Given the description of an element on the screen output the (x, y) to click on. 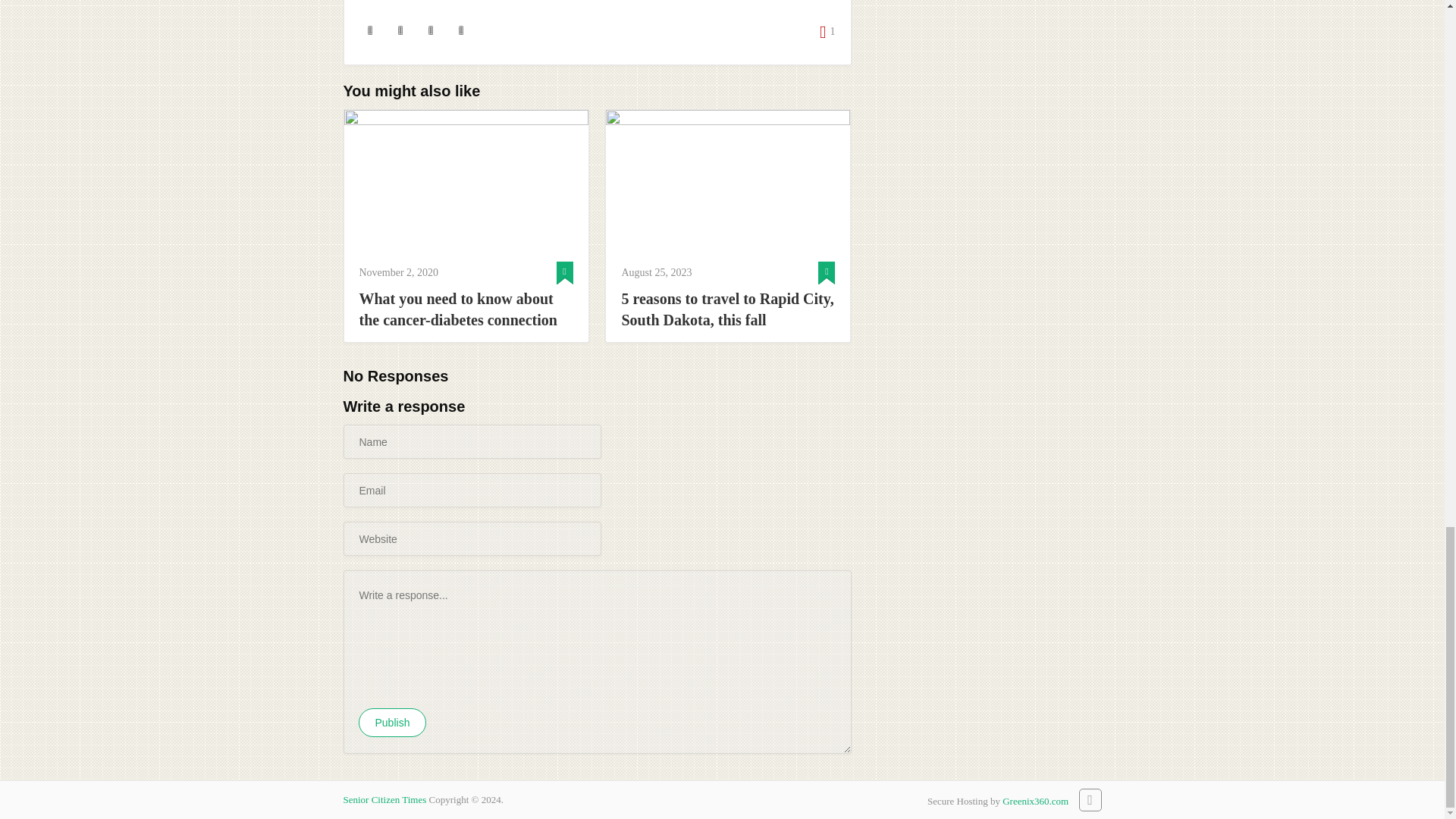
What you need to know about the cancer-diabetes connection (466, 309)
5 reasons to travel to Rapid City, South Dakota, this fall (727, 309)
Publish (392, 722)
5 reasons to travel to Rapid City, South Dakota, this fall (727, 309)
What you need to know about the cancer-diabetes connection (465, 181)
Publish (392, 722)
What you need to know about the cancer-diabetes connection (466, 309)
5 reasons to travel to Rapid City, South Dakota, this fall (727, 181)
